Given the description of an element on the screen output the (x, y) to click on. 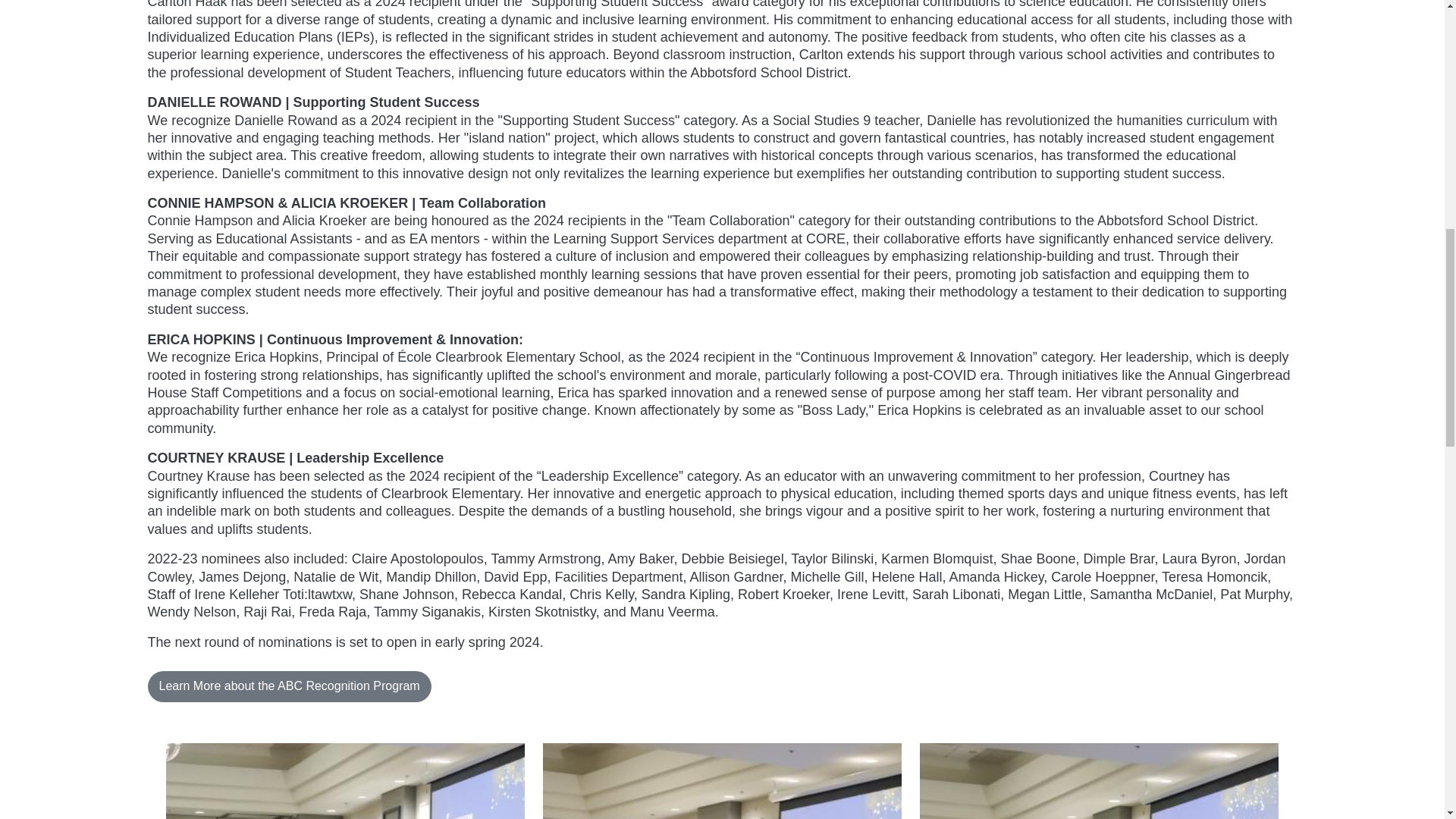
ABC Recognition - 2024 (722, 780)
ABC Recognition - 2024 (344, 780)
ABC Recognition - 2024 (1099, 780)
